Given the description of an element on the screen output the (x, y) to click on. 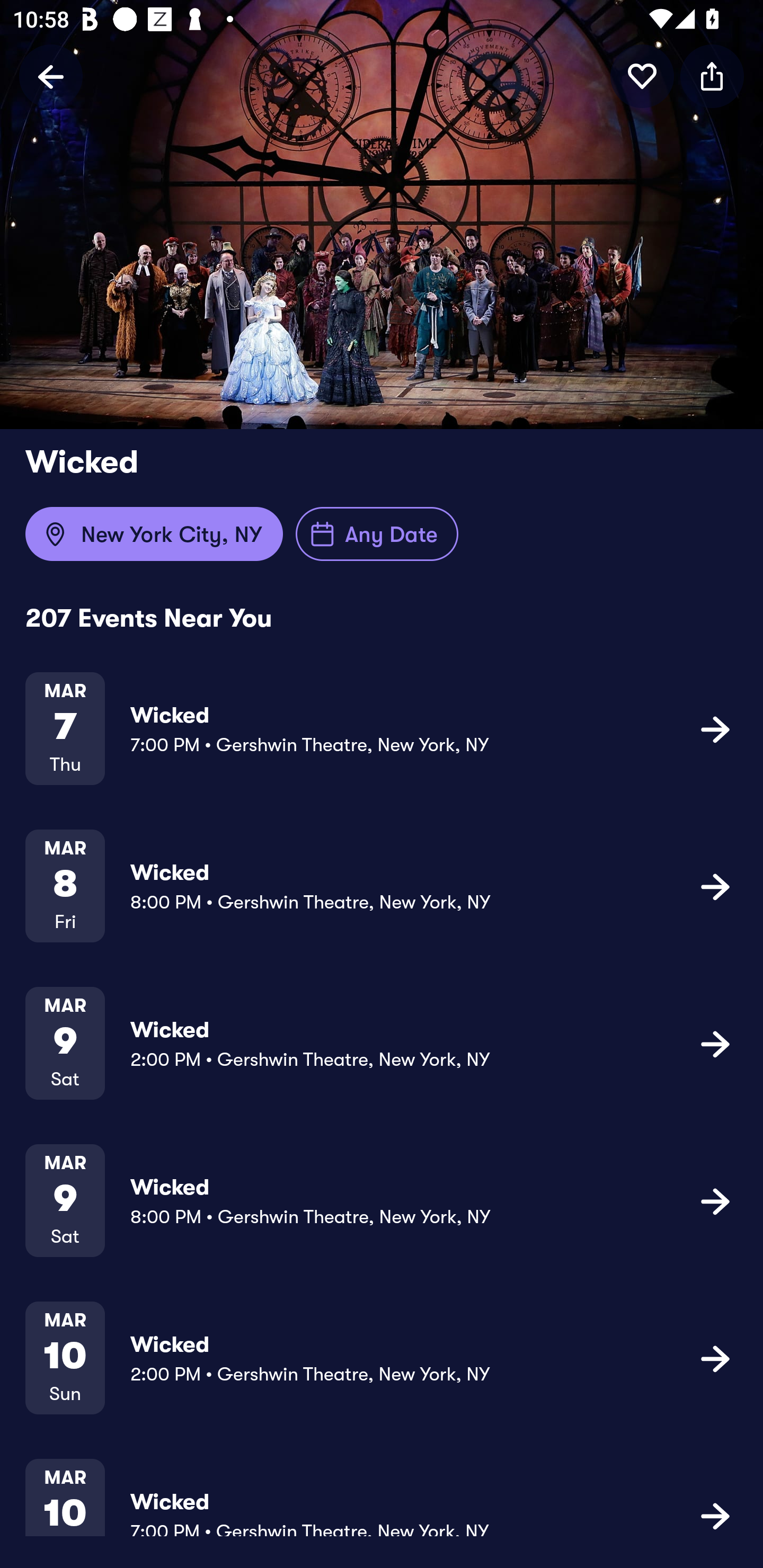
Back (50, 75)
icon button (641, 75)
icon button (711, 75)
New York City, NY (153, 533)
Any Date (377, 533)
icon button (714, 729)
icon button (714, 885)
icon button (714, 1043)
icon button (714, 1201)
icon button (714, 1357)
icon button (714, 1514)
